Given the description of an element on the screen output the (x, y) to click on. 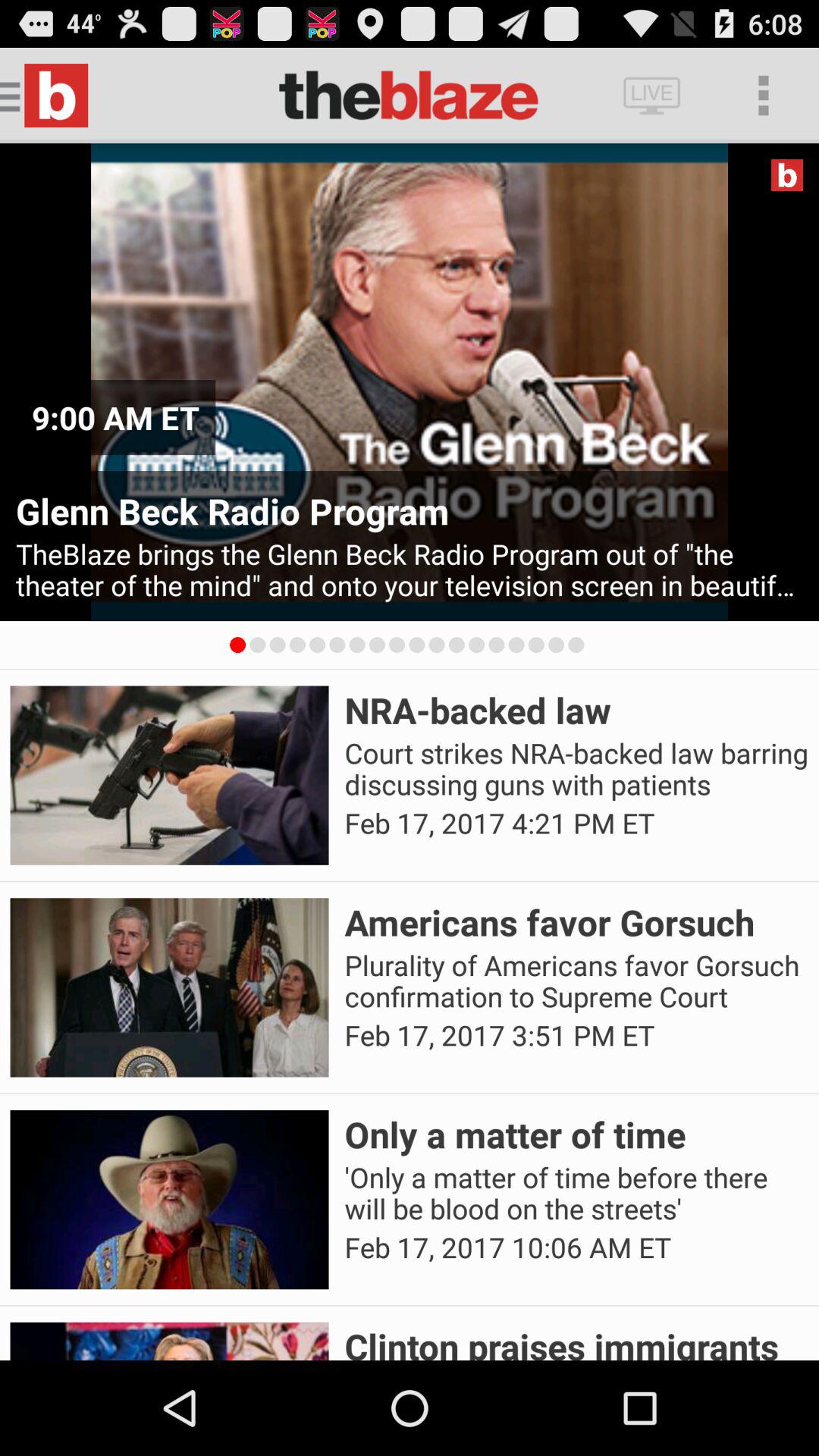
scroll to court strikes nra (576, 769)
